Given the description of an element on the screen output the (x, y) to click on. 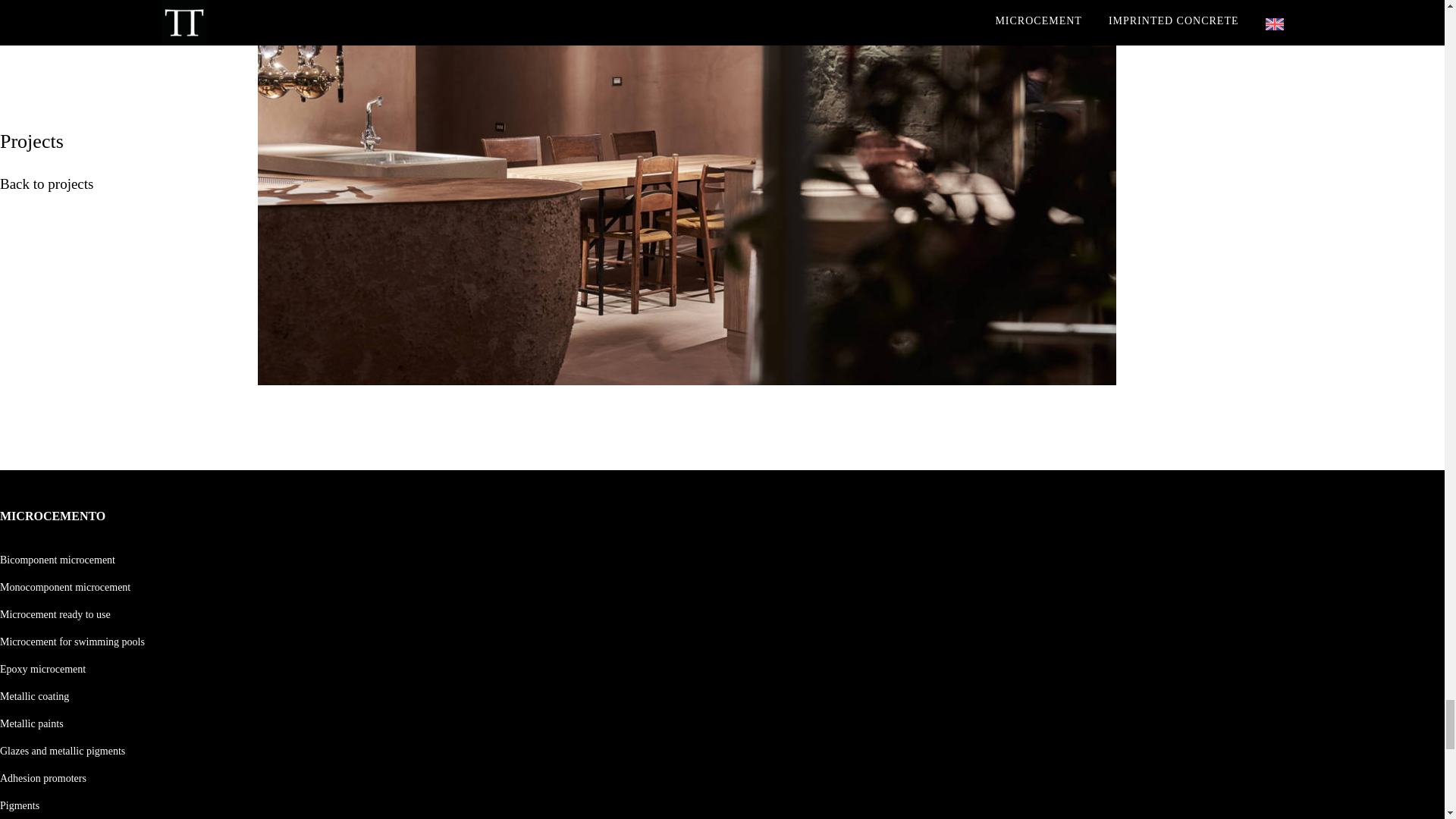
Microcement for swimming pools (72, 641)
Pigments (19, 805)
Microcement ready to use (55, 614)
Metallic paints (32, 723)
Adhesion promoters (42, 778)
Epoxy microcement (42, 668)
Metallic coating (34, 696)
Monocomponent microcement (65, 586)
Glazes and metallic pigments (62, 750)
Bicomponent microcement (57, 559)
